Given the description of an element on the screen output the (x, y) to click on. 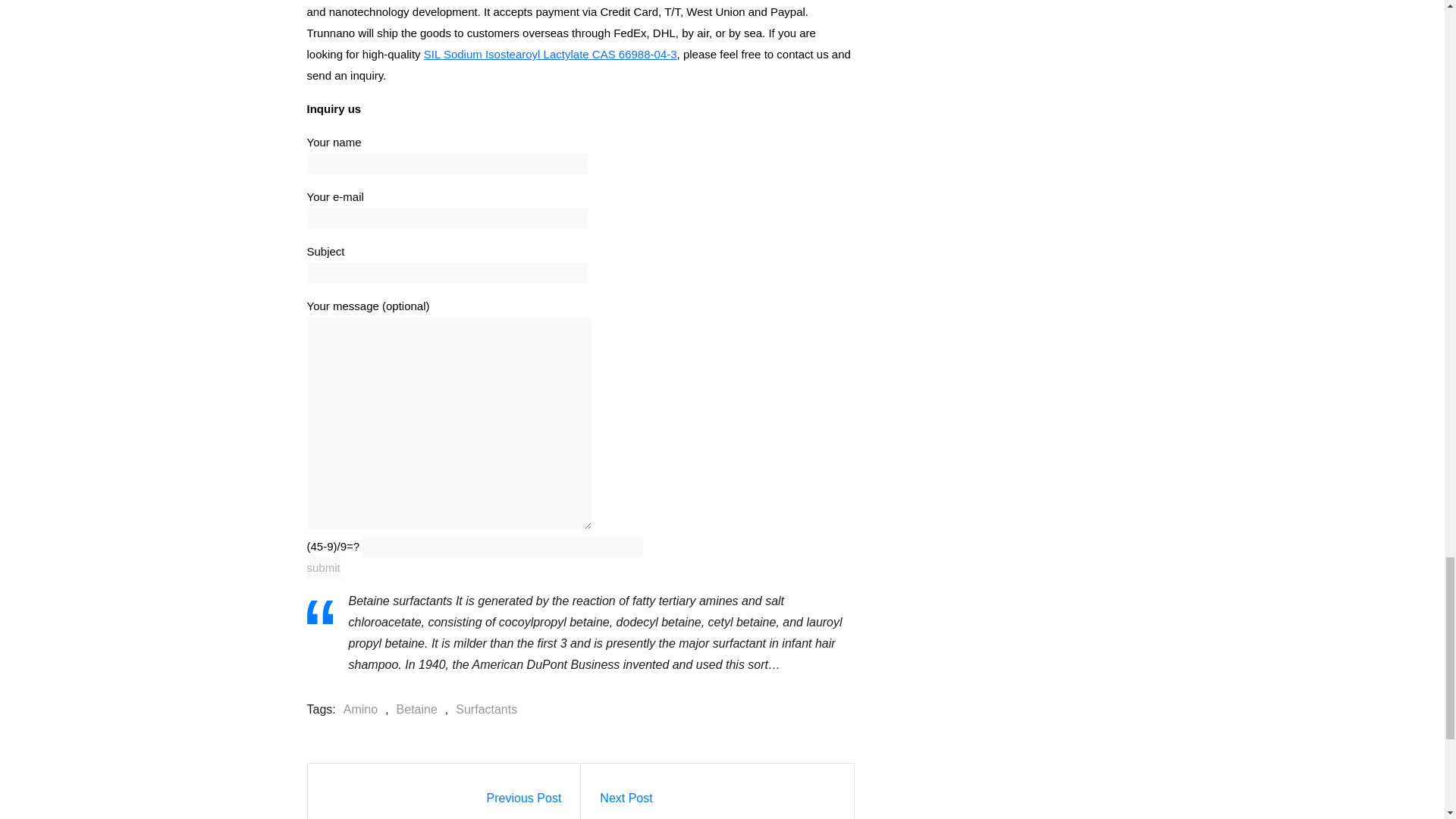
SIL Sodium Isostearoyl Lactylate CAS 66988-04-3 (550, 53)
submit (322, 567)
Surfactants (482, 709)
Amino (356, 709)
Betaine (413, 709)
submit (322, 567)
